Given the description of an element on the screen output the (x, y) to click on. 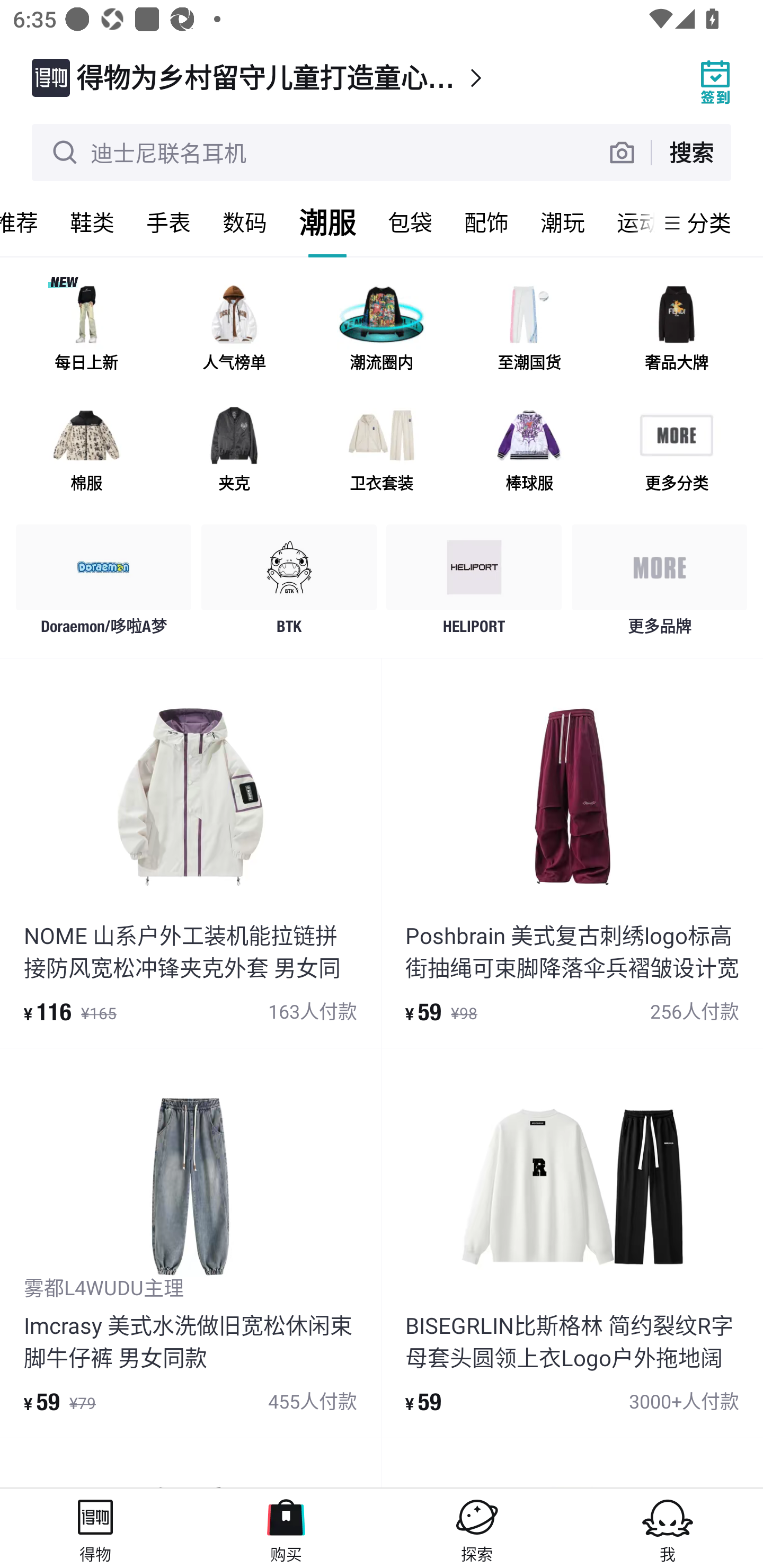
搜索 (690, 152)
鞋类 (92, 222)
手表 (168, 222)
数码 (244, 222)
潮服 (327, 222)
包袋 (410, 222)
配饰 (486, 222)
潮玩 (562, 222)
分类 (708, 222)
每日上新 (86, 329)
人气榜单 (233, 329)
潮流圈内 (381, 329)
至潮国货 (528, 329)
奢品大牌 (676, 329)
棉服 (86, 450)
夹克 (233, 450)
卫衣套装 (381, 450)
棒球服 (528, 450)
更多分类 (676, 450)
Doraemon/哆啦A梦 (103, 583)
BTK (288, 583)
HELIPORT (473, 583)
更多品牌 (658, 583)
得物 (95, 1528)
购买 (285, 1528)
探索 (476, 1528)
我 (667, 1528)
